Given the description of an element on the screen output the (x, y) to click on. 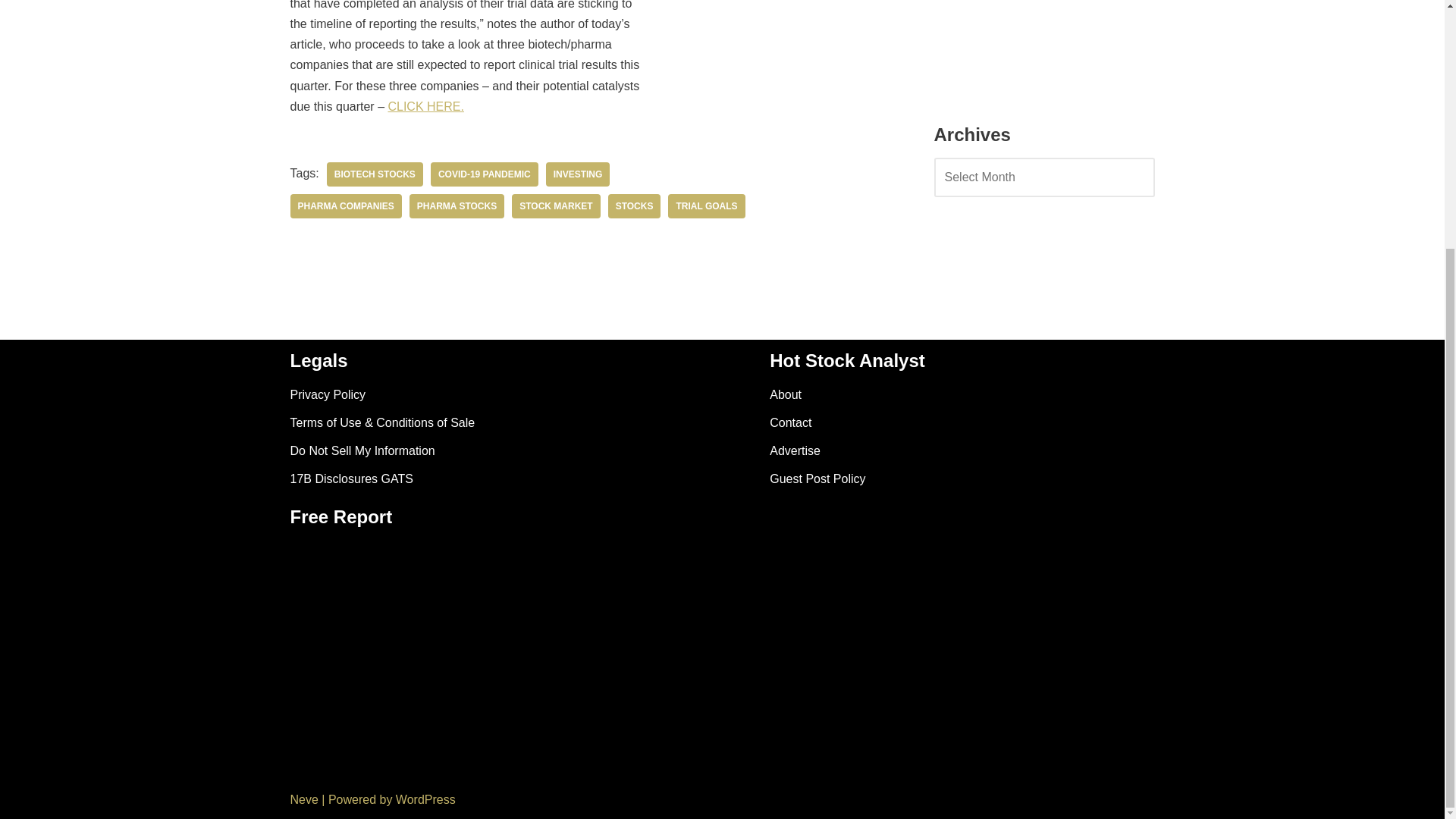
COVID-19 PANDEMIC (484, 174)
Privacy Policy (327, 394)
Pharma Companies (345, 206)
stocks (634, 206)
TRIAL GOALS (706, 206)
WordPress (425, 799)
STOCKS (634, 206)
BIOTECH STOCKS (374, 174)
Guest Post Policy (817, 478)
STOCK MARKET (555, 206)
CLICK HERE. (425, 106)
17B Disclosures GATS (350, 478)
Trial Goals (706, 206)
Biotech Stocks (374, 174)
Stock Market (555, 206)
